Given the description of an element on the screen output the (x, y) to click on. 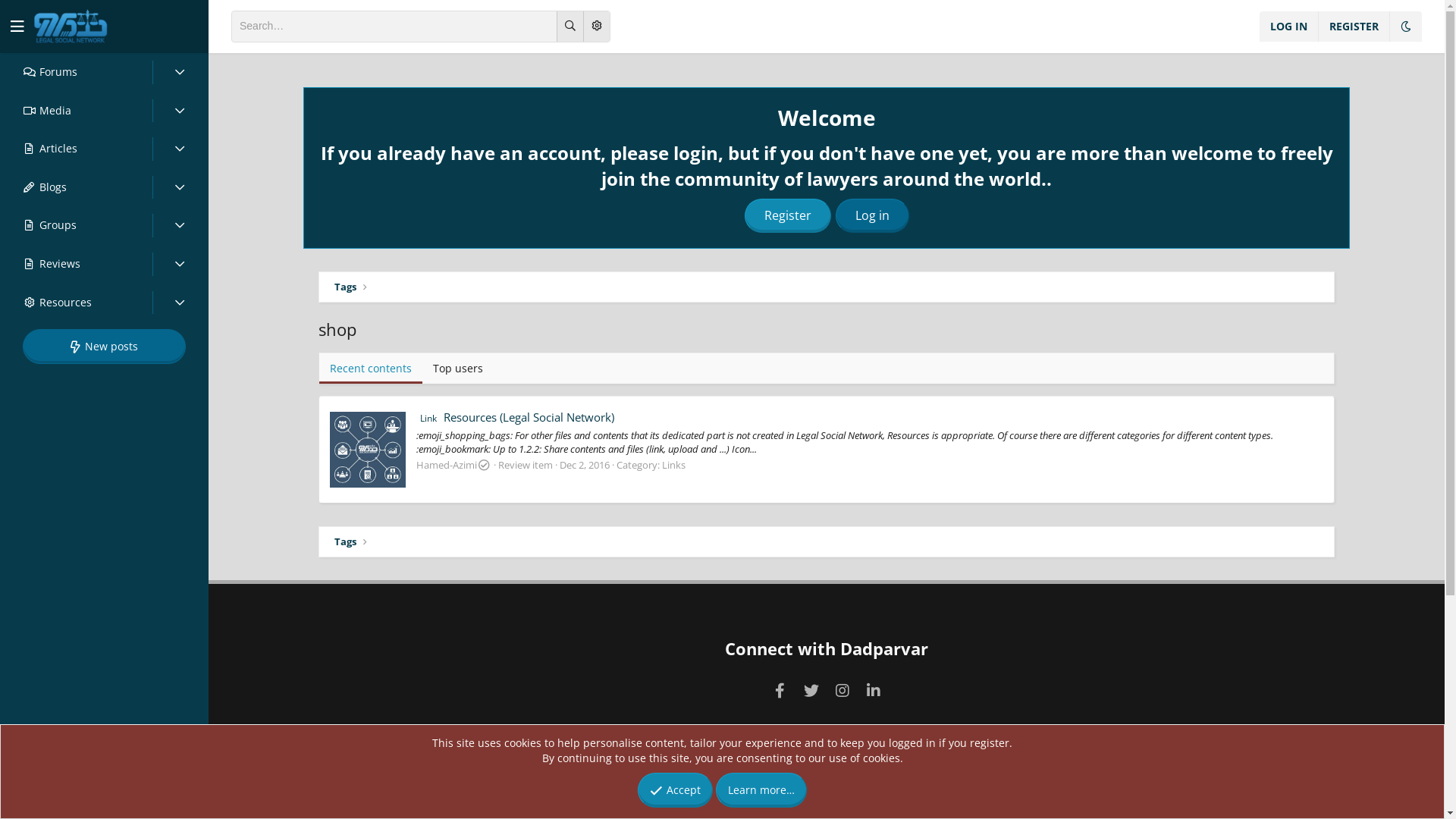
LinkedIn Element type: text (872, 689)
Top users Element type: text (457, 368)
Terms & Conditions Element type: text (1147, 797)
LOG IN Element type: text (1288, 26)
Recent contents Element type: text (370, 368)
Hamed-Azimi Element type: text (446, 464)
Log in Element type: text (872, 215)
Tags Element type: text (345, 541)
Tags Element type: text (345, 286)
Attorneys Element type: text (602, 797)
New posts Element type: text (103, 346)
Twitter Element type: text (810, 689)
Instagram Element type: text (841, 689)
Articles Element type: text (76, 148)
Resources Element type: text (76, 302)
REGISTER Element type: text (1353, 26)
Link Resources (Legal Social Network) Element type: text (515, 416)
Links Element type: text (673, 464)
Groups Element type: text (76, 225)
Forums Element type: text (76, 72)
Reviews Element type: text (76, 263)
Register Element type: text (787, 215)
Media Element type: text (76, 110)
Blogs Element type: text (76, 187)
KNOW MORE Element type: text (389, 773)
Facebook Element type: text (779, 689)
Accept Element type: text (675, 789)
